Given the description of an element on the screen output the (x, y) to click on. 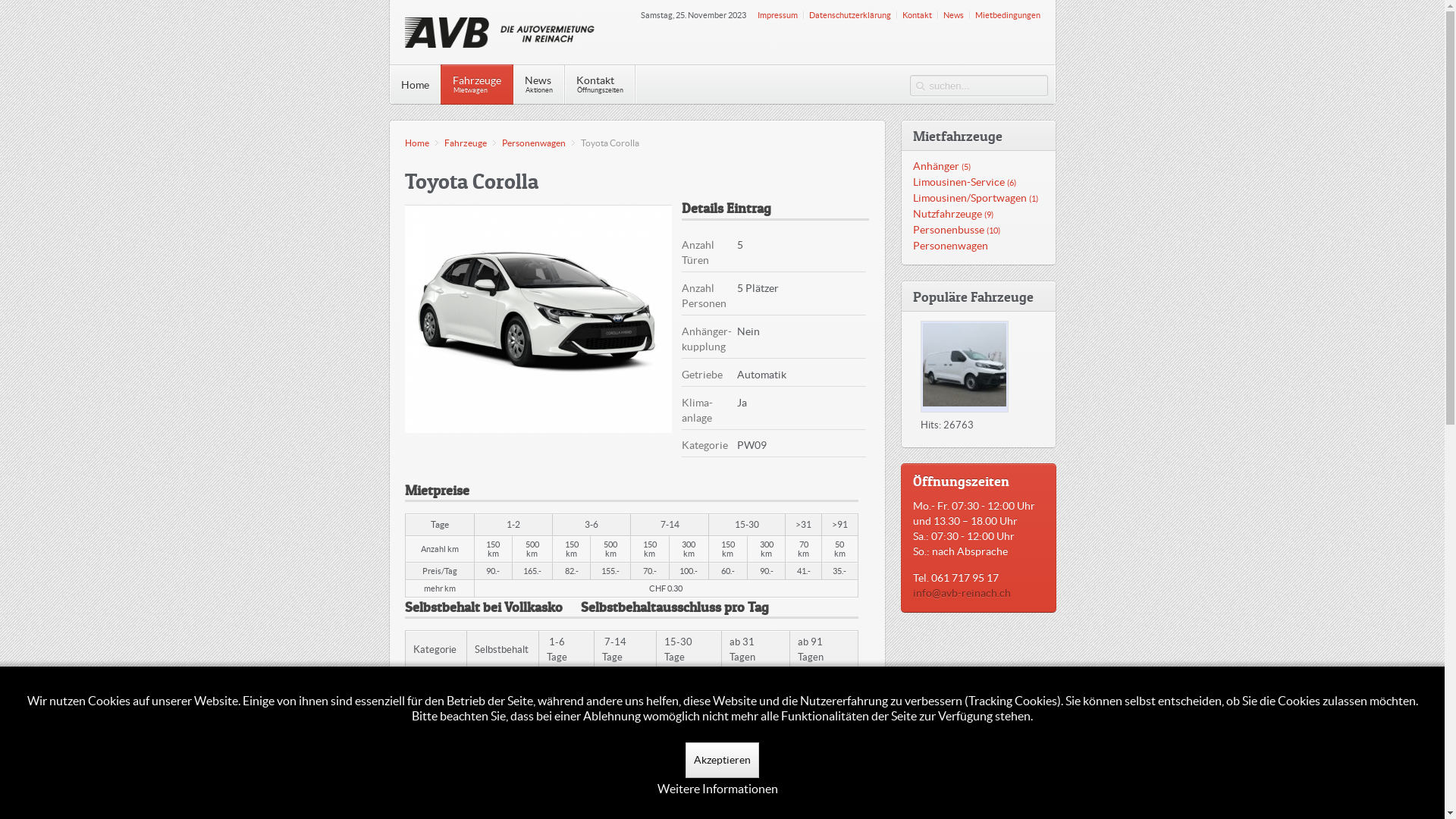
Limousinen-Service (6) Element type: text (978, 182)
Personenwagen Element type: text (538, 142)
News Element type: text (953, 14)
Mietbedingungen Element type: text (1007, 14)
Reset Element type: text (3, 3)
Weitere Informationen Element type: text (717, 788)
Home Element type: text (421, 142)
Home Element type: text (415, 84)
News
Aktionen Element type: text (538, 84)
info@avb-reinach.ch Element type: text (961, 592)
Kontakt Element type: text (916, 14)
Akzeptieren Element type: text (722, 760)
Limousinen/Sportwagen (1) Element type: text (978, 198)
Personenwagen Element type: text (978, 245)
Impressum Element type: text (776, 14)
Nutzfahrzeuge (9) Element type: text (978, 214)
Fahrzeuge Element type: text (469, 142)
Fahrzeuge
Mietwagen Element type: text (475, 84)
Personenbusse (10) Element type: text (978, 230)
